Given the description of an element on the screen output the (x, y) to click on. 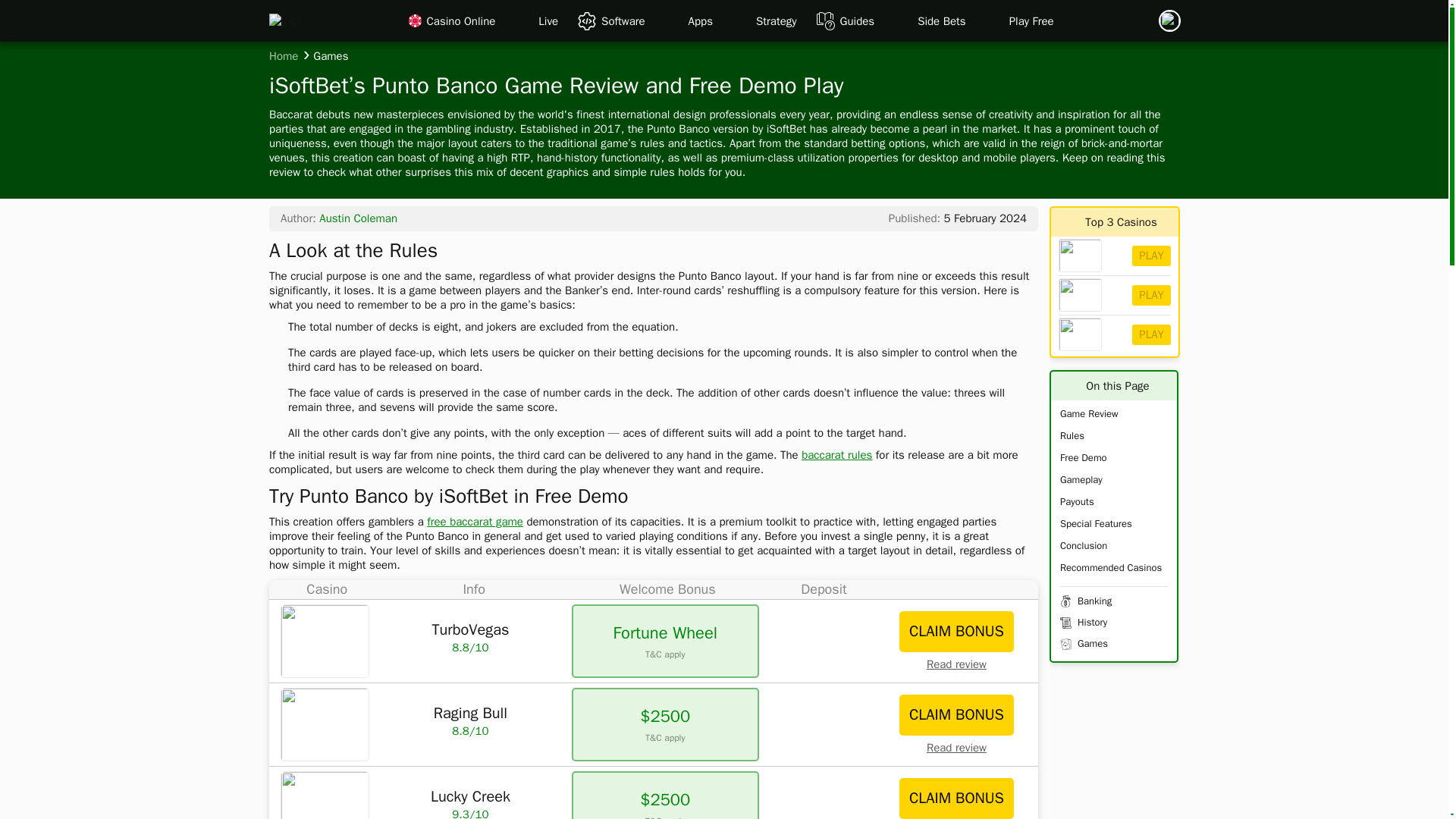
Live (547, 21)
Free Demo (1082, 457)
Strategy (775, 21)
Apps (700, 21)
Game Review (1088, 413)
Special Features (1095, 522)
Guides (857, 21)
Software (623, 21)
Gameplay (1080, 479)
Recommended Casinos (1110, 567)
